Given the description of an element on the screen output the (x, y) to click on. 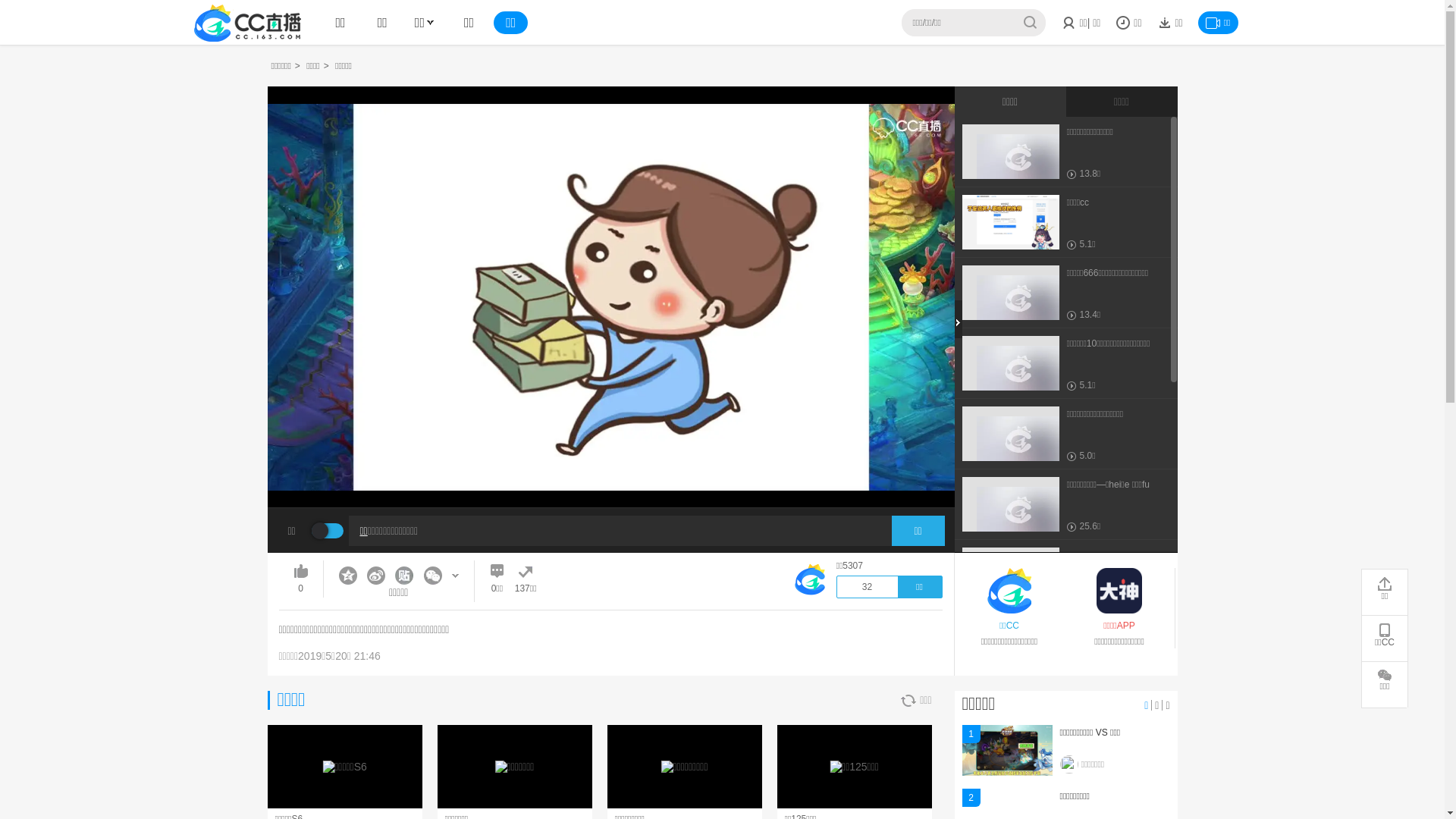
0 Element type: text (300, 578)
